Given the description of an element on the screen output the (x, y) to click on. 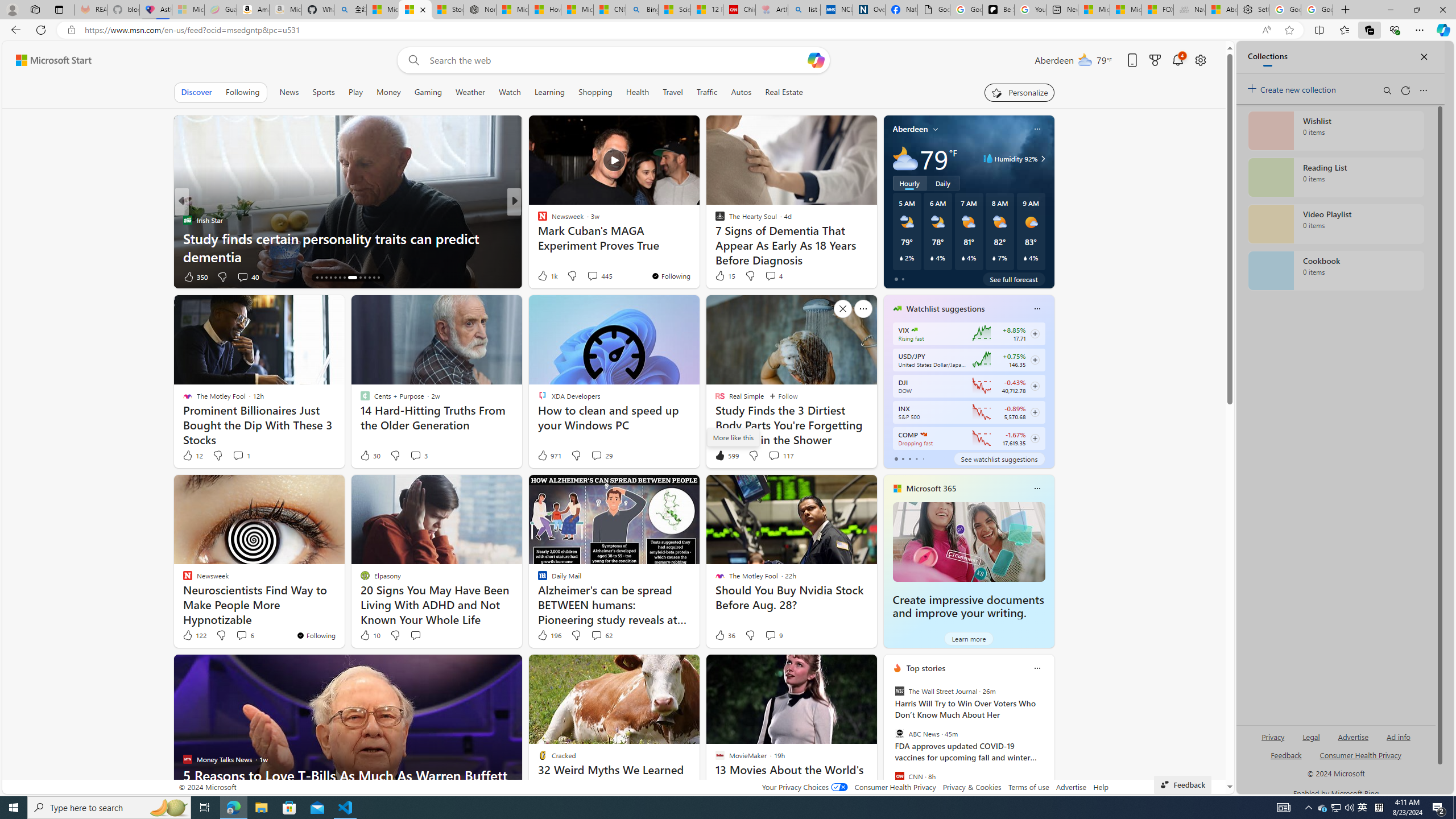
196 Like (548, 634)
Learn more (967, 638)
25 Like (543, 276)
tab-3 (916, 458)
View comments 445 Comment (592, 275)
Google Analytics Opt-out Browser Add-on Download Page (933, 9)
AutomationID: tab-16 (326, 277)
Mostly cloudy (904, 158)
